Given the description of an element on the screen output the (x, y) to click on. 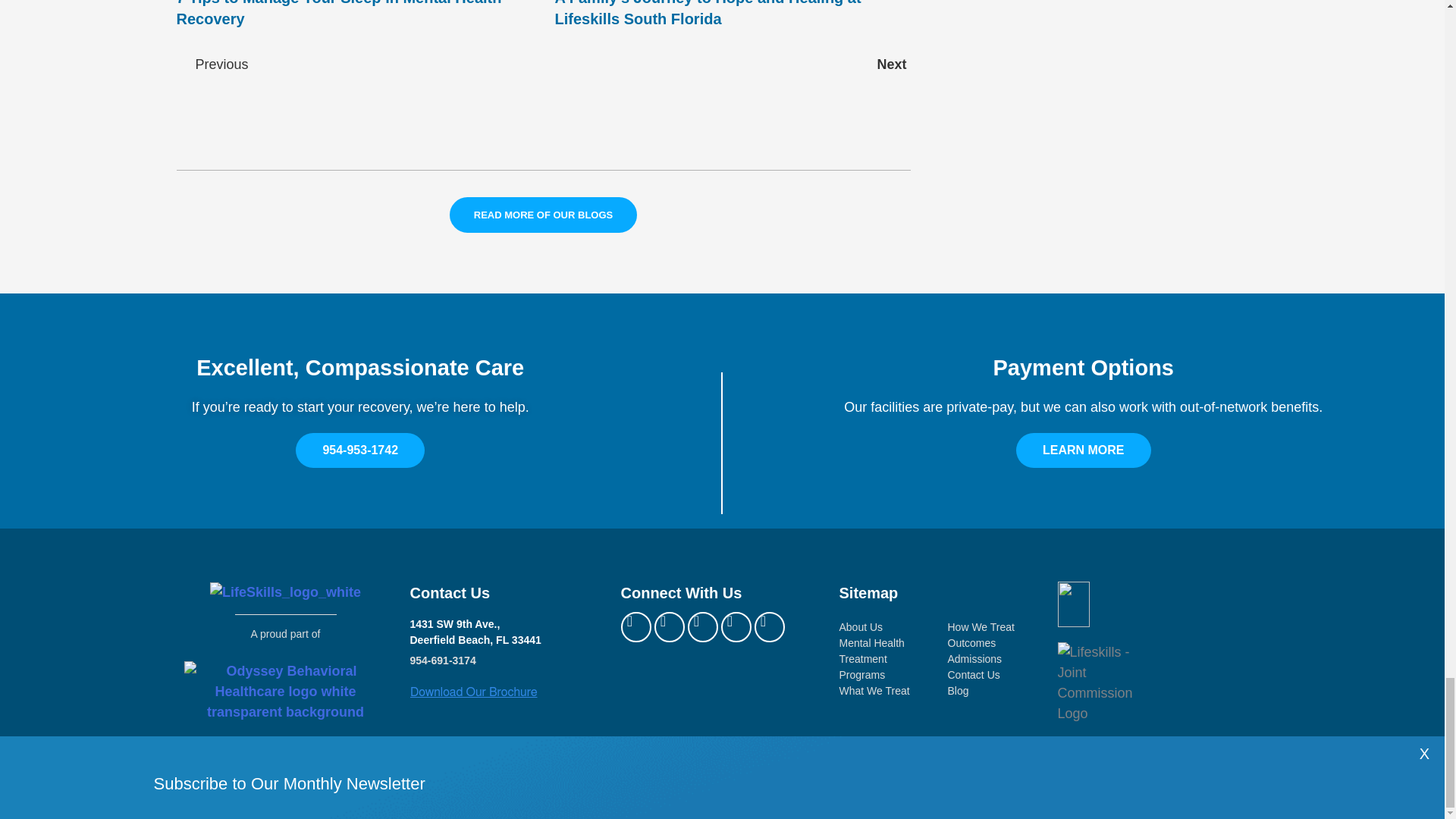
Odyssey-logo-2023-horizontal-white (285, 691)
